Given the description of an element on the screen output the (x, y) to click on. 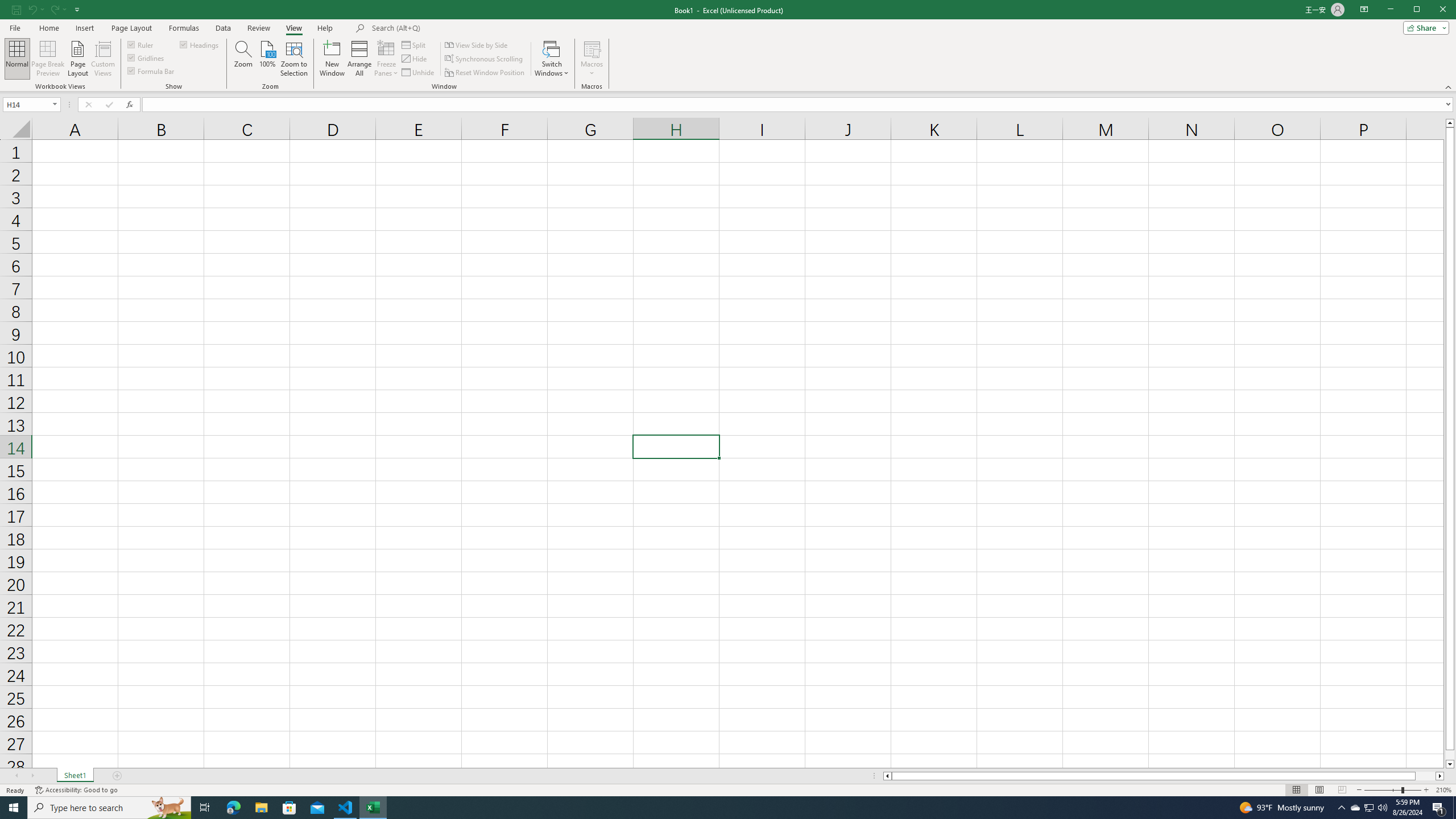
Gridlines (146, 56)
Custom Views... (103, 58)
Macros (591, 58)
Reset Window Position (485, 72)
View Macros (591, 48)
New Window (332, 58)
